Given the description of an element on the screen output the (x, y) to click on. 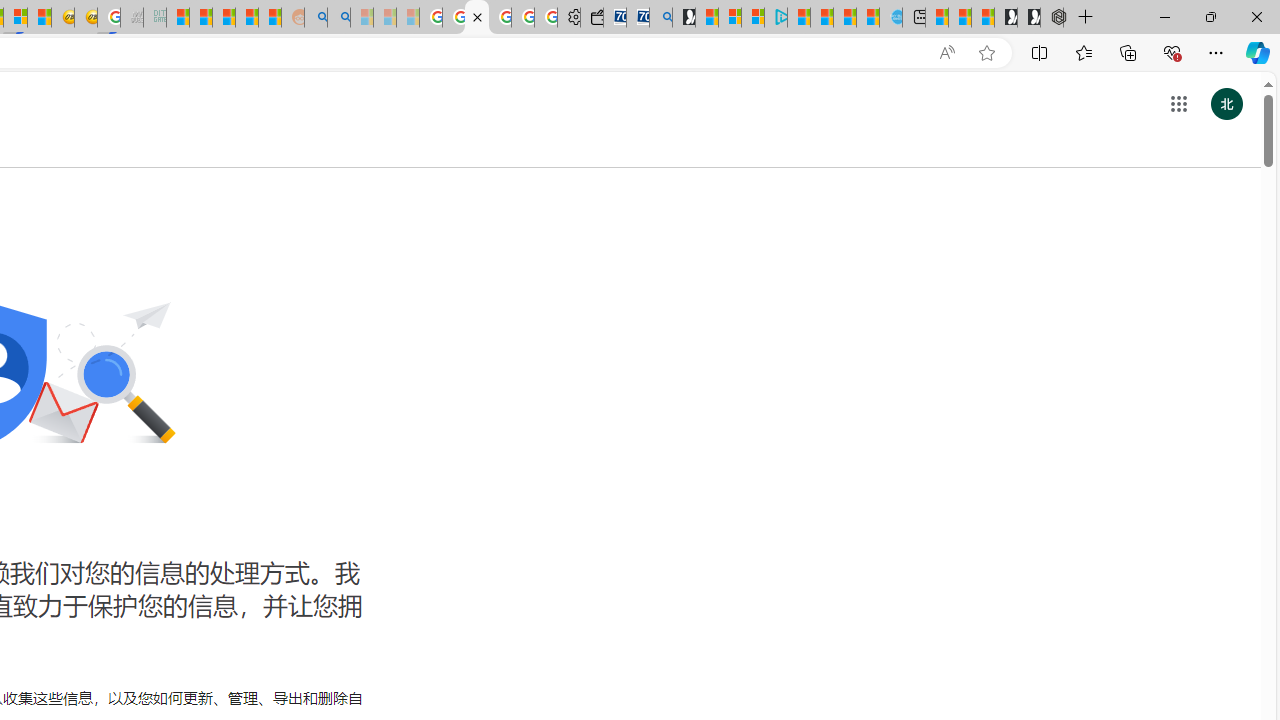
Class: gb_E (1178, 103)
